Given the description of an element on the screen output the (x, y) to click on. 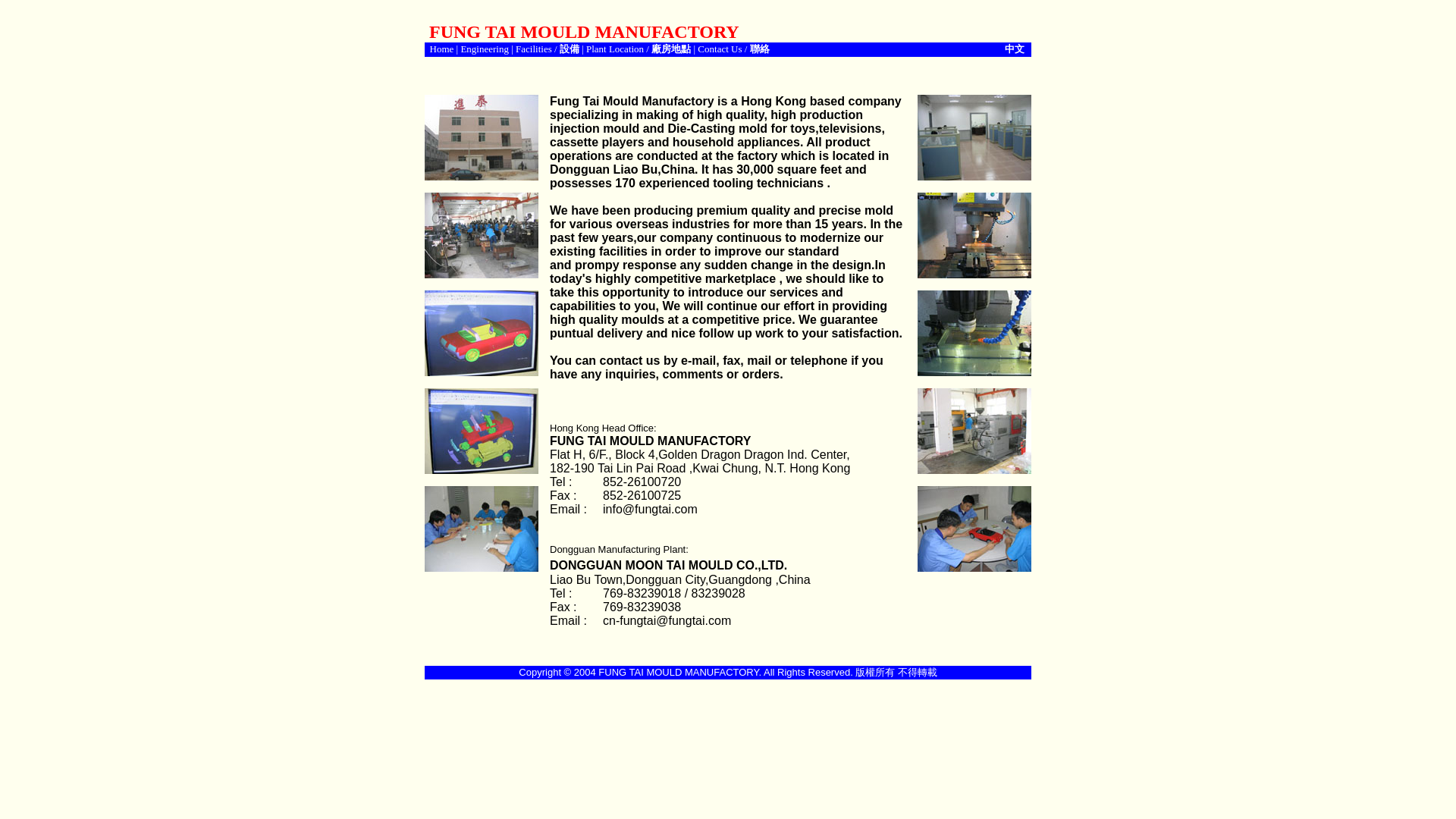
Engineering (484, 48)
Home (440, 48)
